Given the description of an element on the screen output the (x, y) to click on. 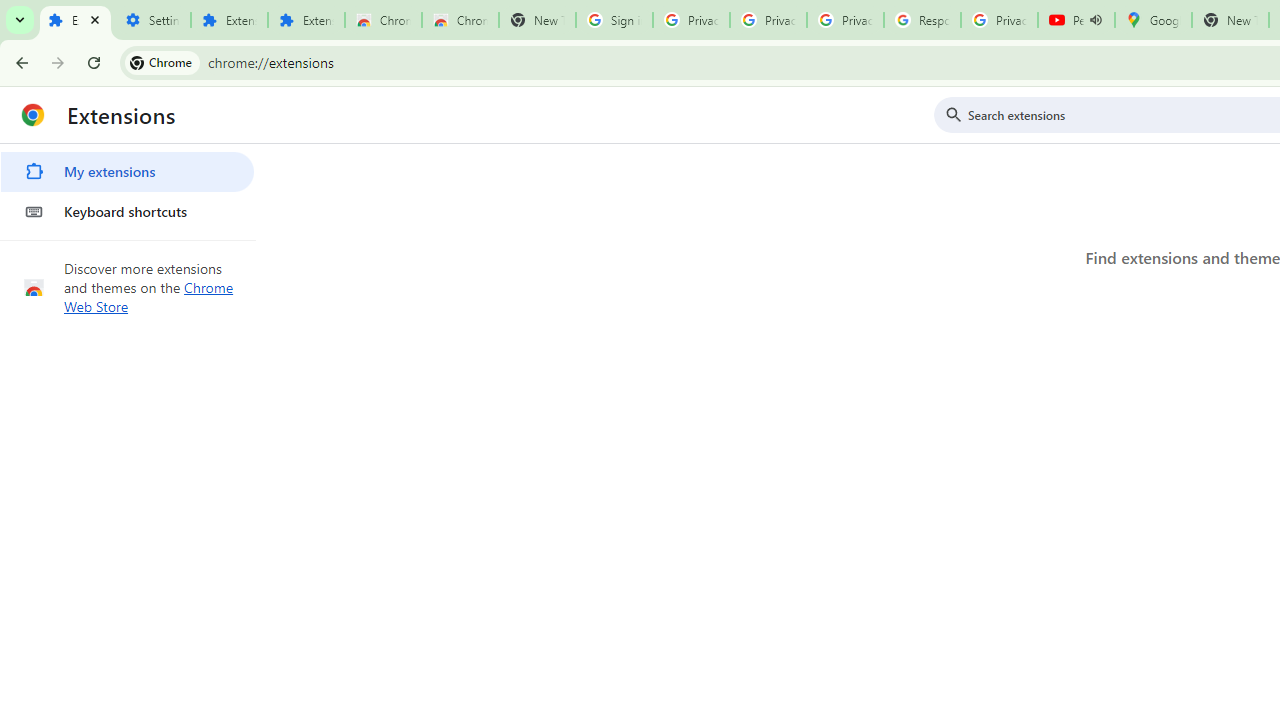
Personalized AI for you | Gemini - YouTube - Audio playing (1076, 20)
AutomationID: sectionMenu (128, 187)
Extensions (228, 20)
Chrome Web Store (383, 20)
New Tab (537, 20)
Extensions (75, 20)
